Given the description of an element on the screen output the (x, y) to click on. 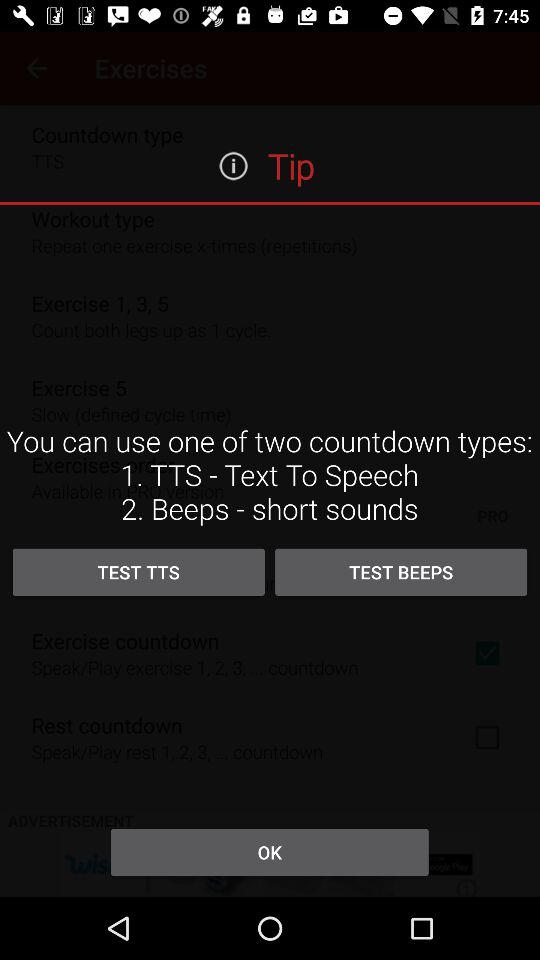
select the item on the right (401, 571)
